Given the description of an element on the screen output the (x, y) to click on. 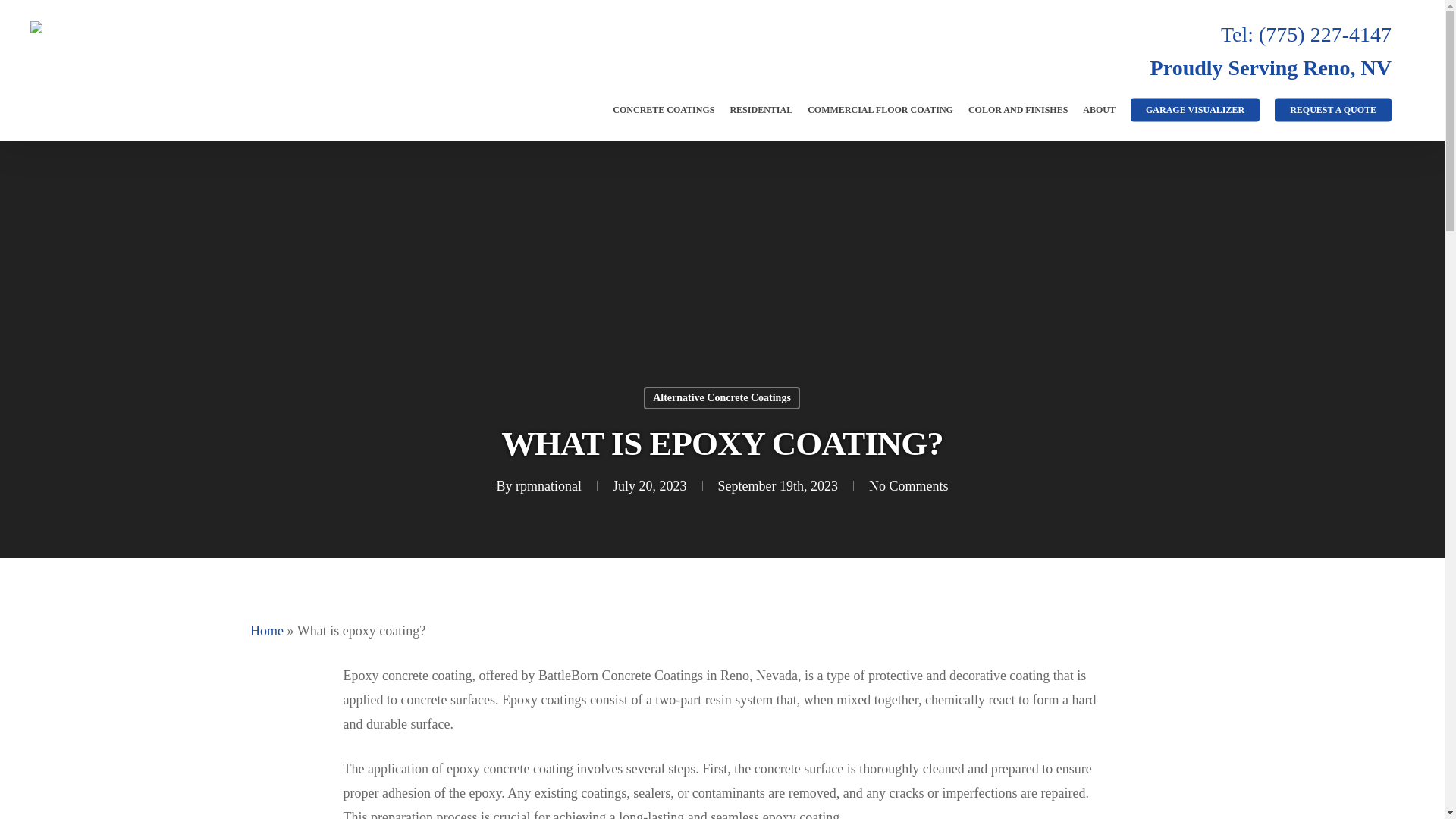
RESIDENTIAL (760, 109)
ABOUT (1099, 109)
Posts by rpmnational (547, 485)
COMMERCIAL FLOOR COATING (880, 109)
CONCRETE COATINGS (663, 109)
COLOR AND FINISHES (1017, 109)
